Given the description of an element on the screen output the (x, y) to click on. 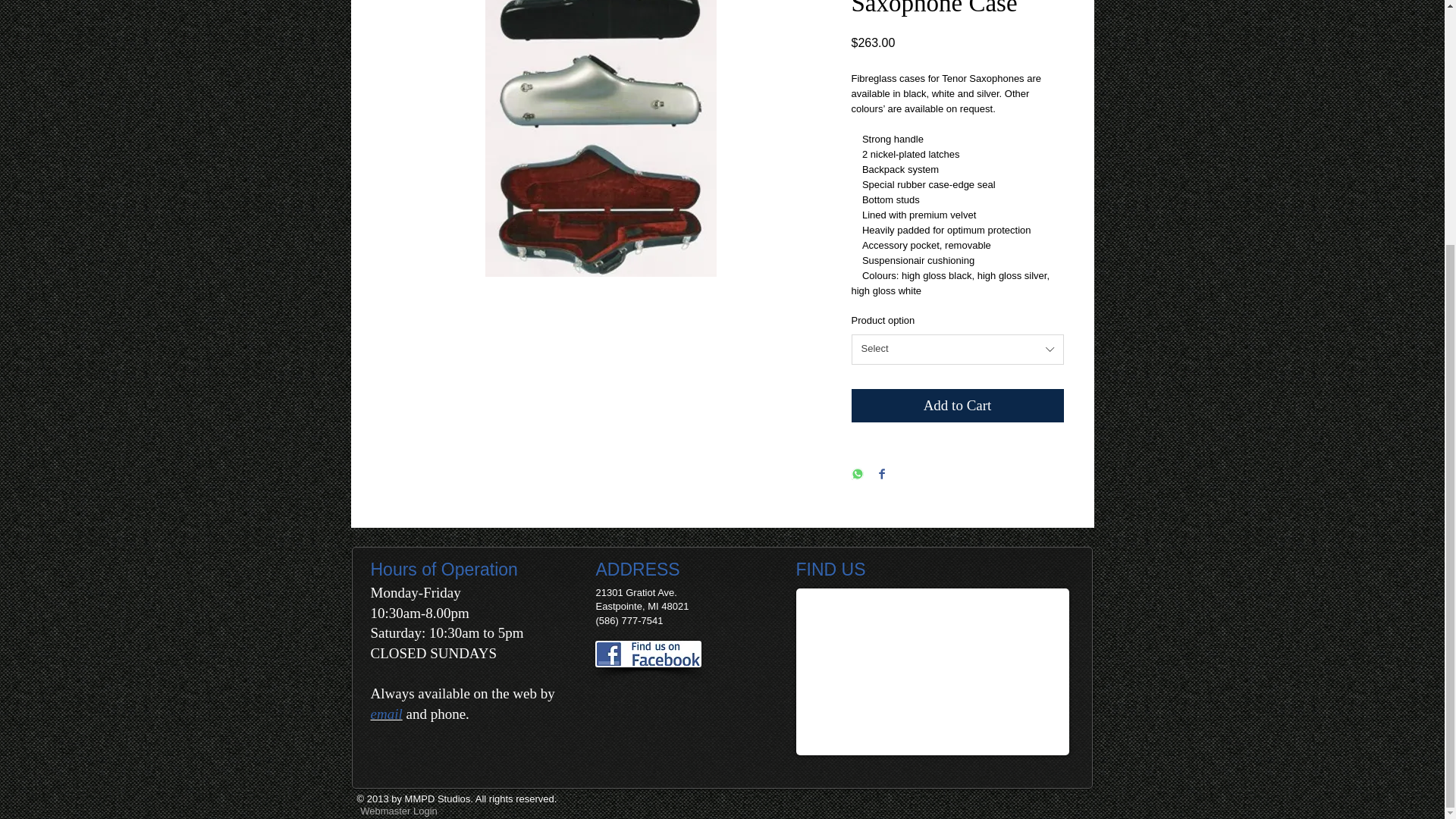
Add to Cart (956, 406)
Select (956, 349)
email (385, 713)
